Given the description of an element on the screen output the (x, y) to click on. 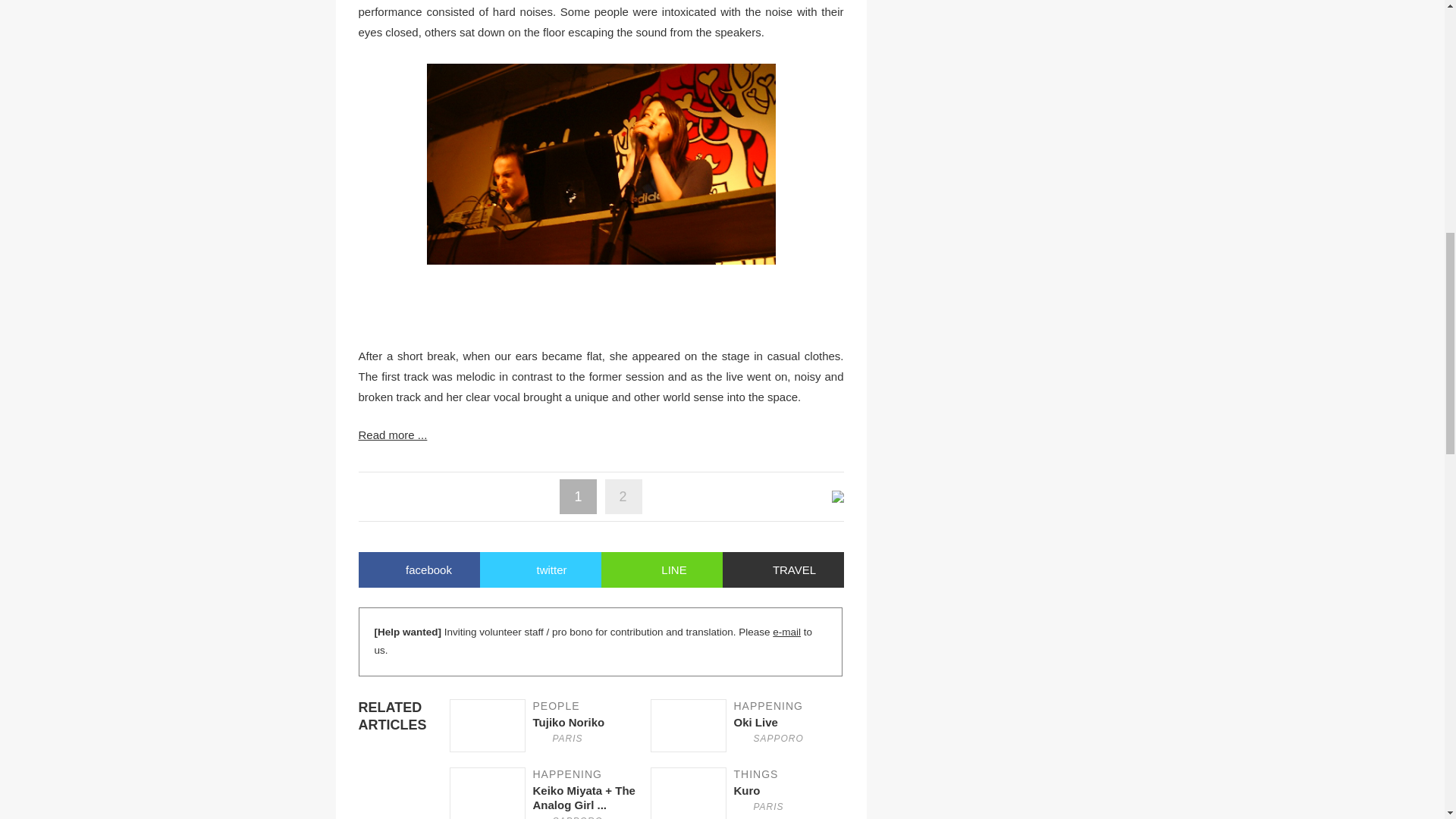
2 (623, 496)
e-mail (786, 632)
facebook (418, 570)
twitter (539, 570)
TRAVEL (548, 725)
Read more ... (782, 570)
LINE (750, 725)
